Given the description of an element on the screen output the (x, y) to click on. 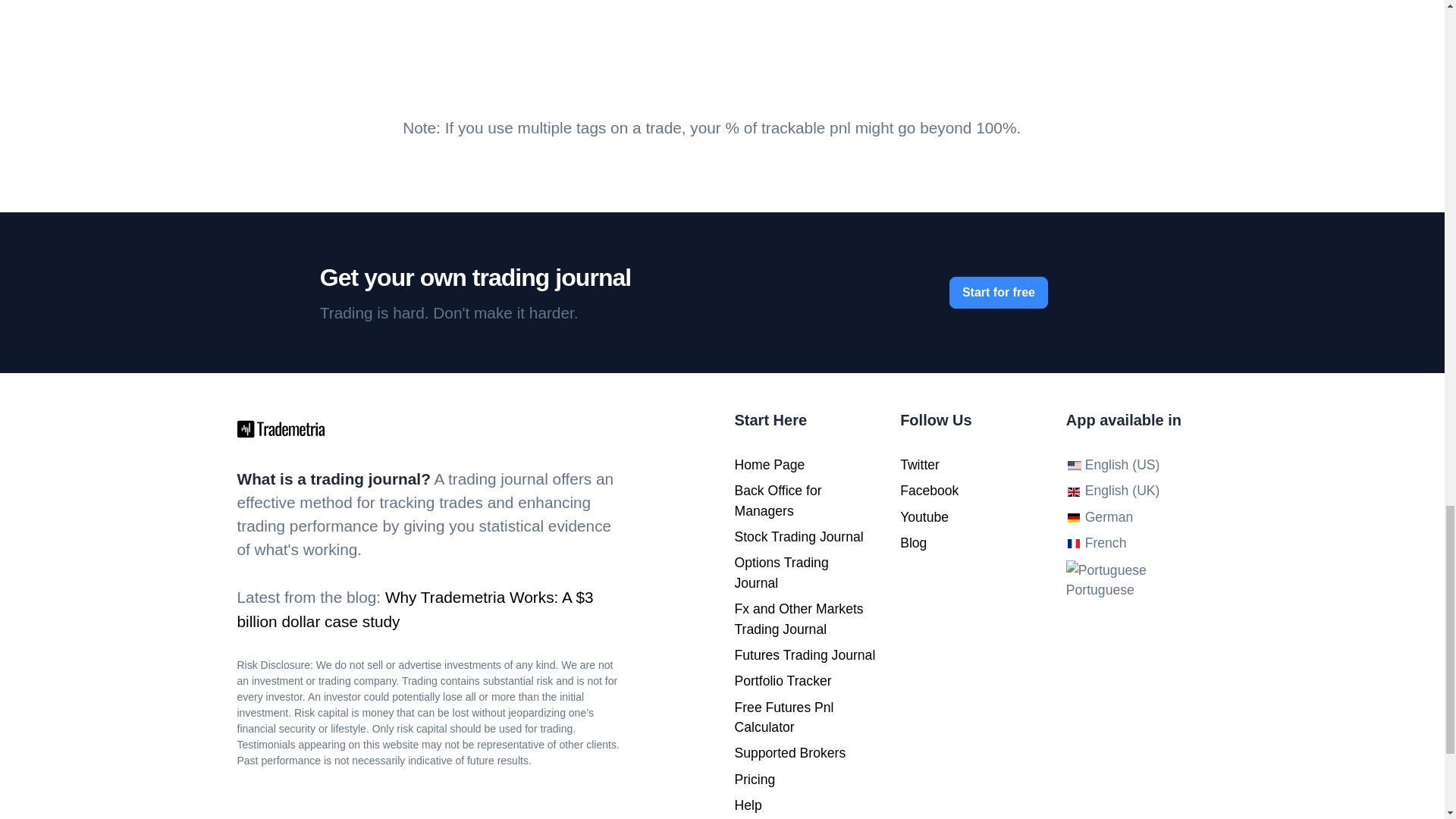
Back Office for Managers (777, 500)
Fx and Other Markets Trading Journal (798, 618)
Stock Trading Journal (798, 536)
Options Trading Journal (780, 572)
Start for free (998, 292)
Home Page (769, 464)
